Given the description of an element on the screen output the (x, y) to click on. 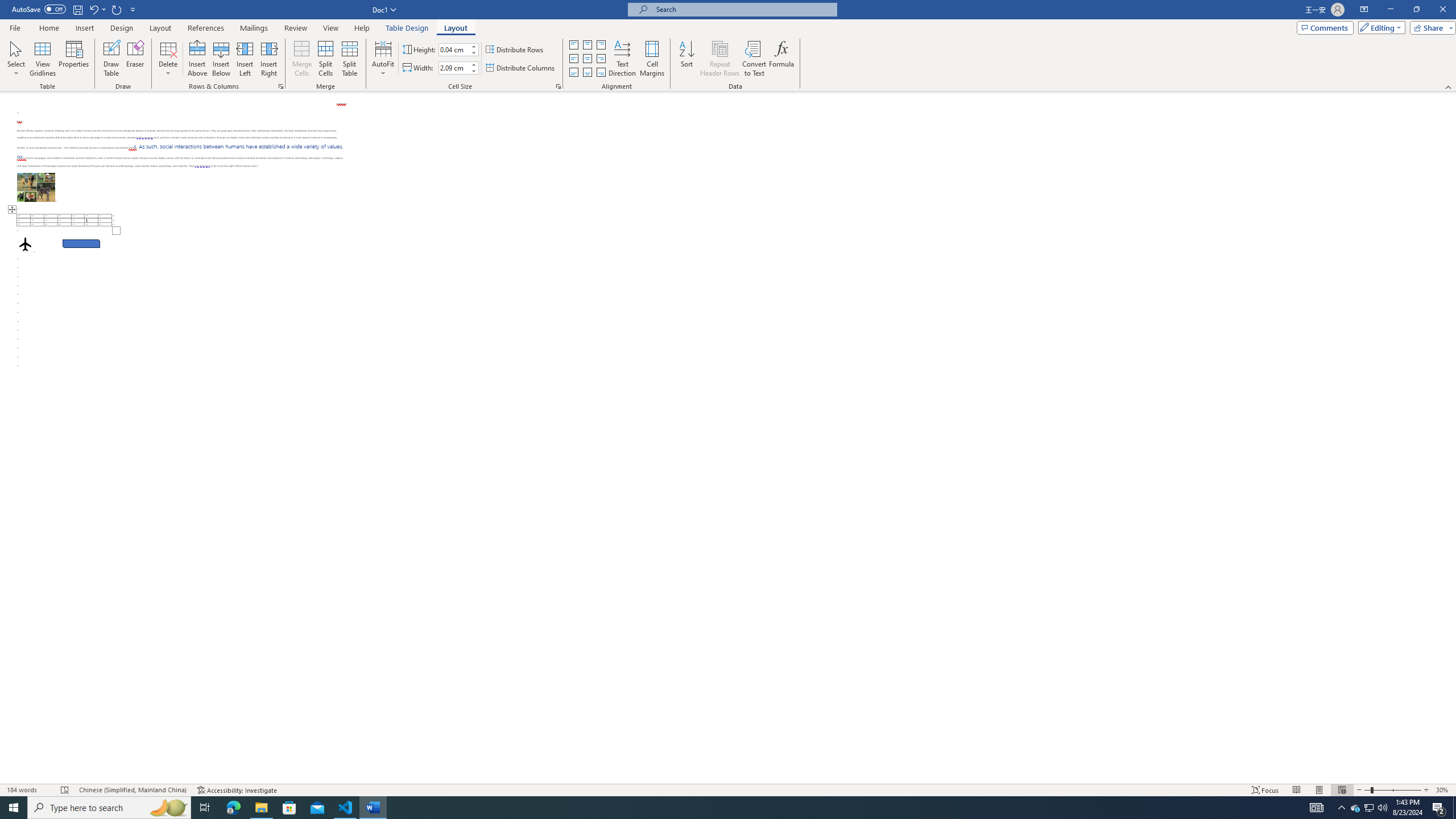
Morphological variation in six dogs (36, 187)
Align Center Justified (573, 58)
Sort... (686, 58)
Class: NetUIScrollBar (1450, 437)
Undo Row Height Spinner (92, 9)
Word Count 184 words (28, 790)
Distribute Rows (515, 49)
Table Column Width (453, 67)
Accessibility Checker Accessibility: Investigate (237, 790)
